Given the description of an element on the screen output the (x, y) to click on. 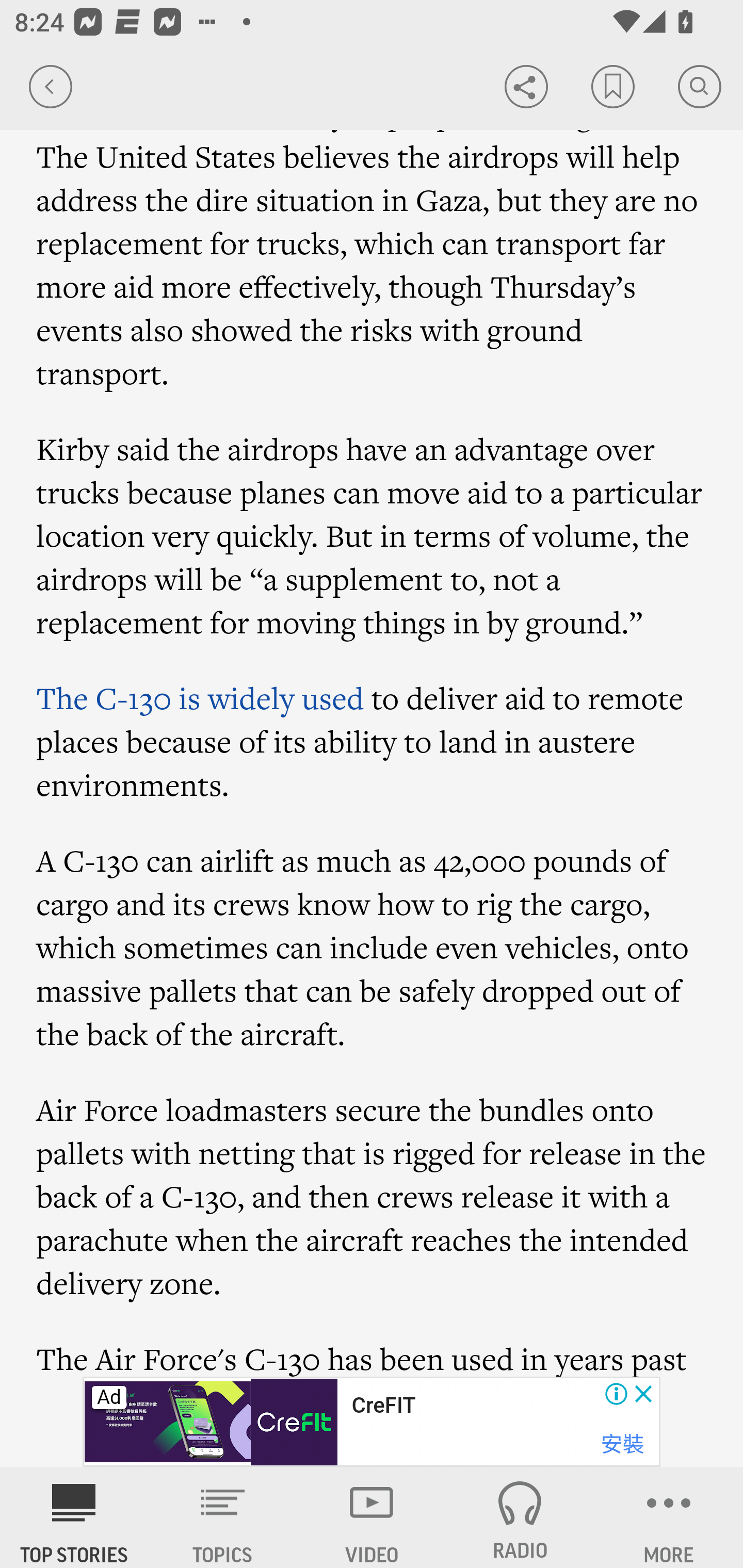
The C-130 is widely used (200, 698)
CreFIT (382, 1405)
安裝 (621, 1444)
AP News TOP STORIES (74, 1517)
TOPICS (222, 1517)
VIDEO (371, 1517)
RADIO (519, 1517)
MORE (668, 1517)
